Given the description of an element on the screen output the (x, y) to click on. 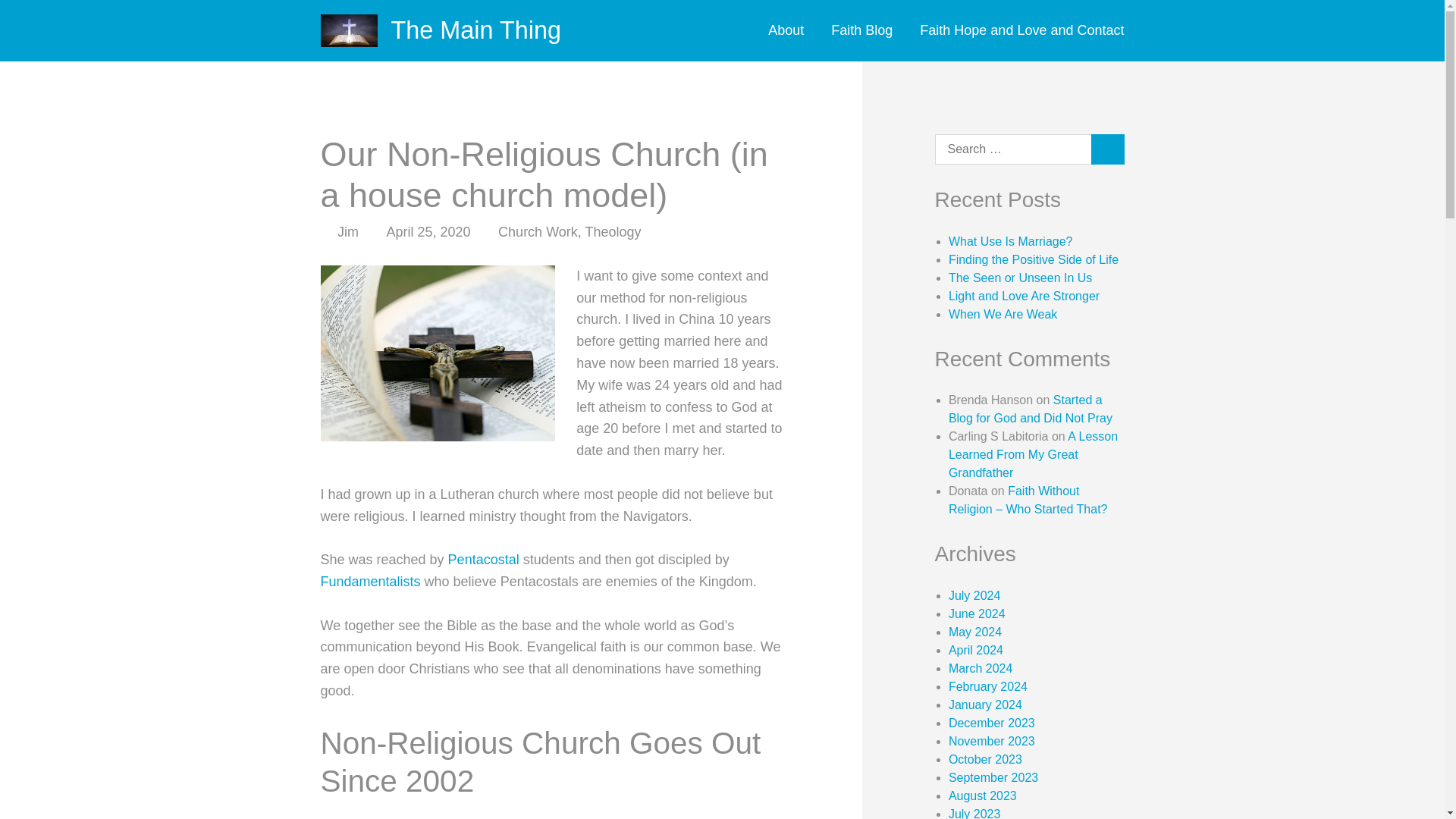
Jim (347, 231)
The Main Thing (475, 30)
Blog (860, 30)
May 2024 (975, 631)
contact page (1014, 30)
July 2024 (975, 594)
November 2023 (992, 740)
The Seen or Unseen In Us (1020, 277)
August 2023 (982, 795)
Light and Love Are Stronger (1024, 295)
June 2024 (977, 613)
About (792, 30)
Church Work (537, 231)
Theology (613, 231)
What Use Is Marriage? (1011, 241)
